Given the description of an element on the screen output the (x, y) to click on. 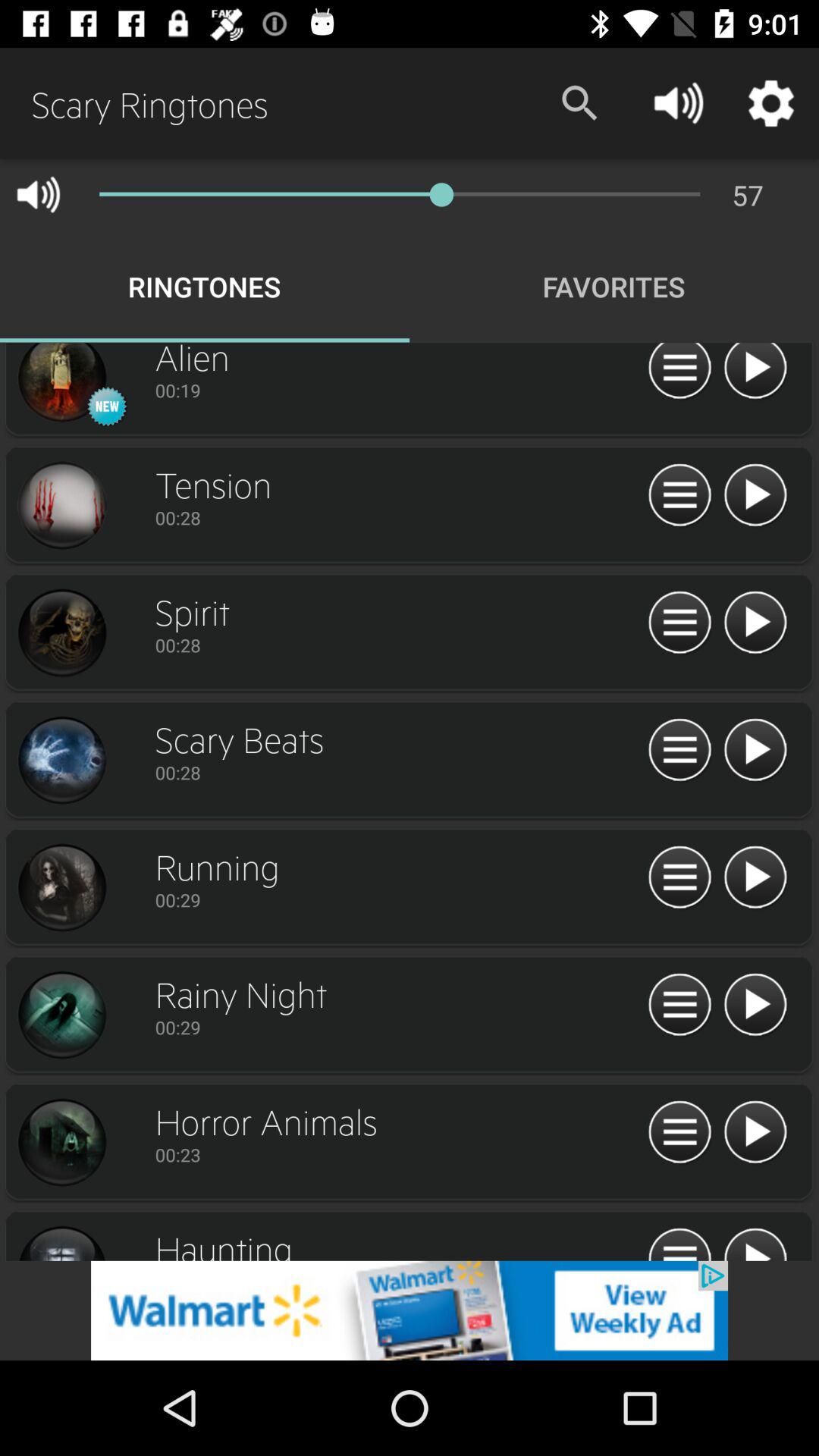
playing the option (755, 1132)
